Given the description of an element on the screen output the (x, y) to click on. 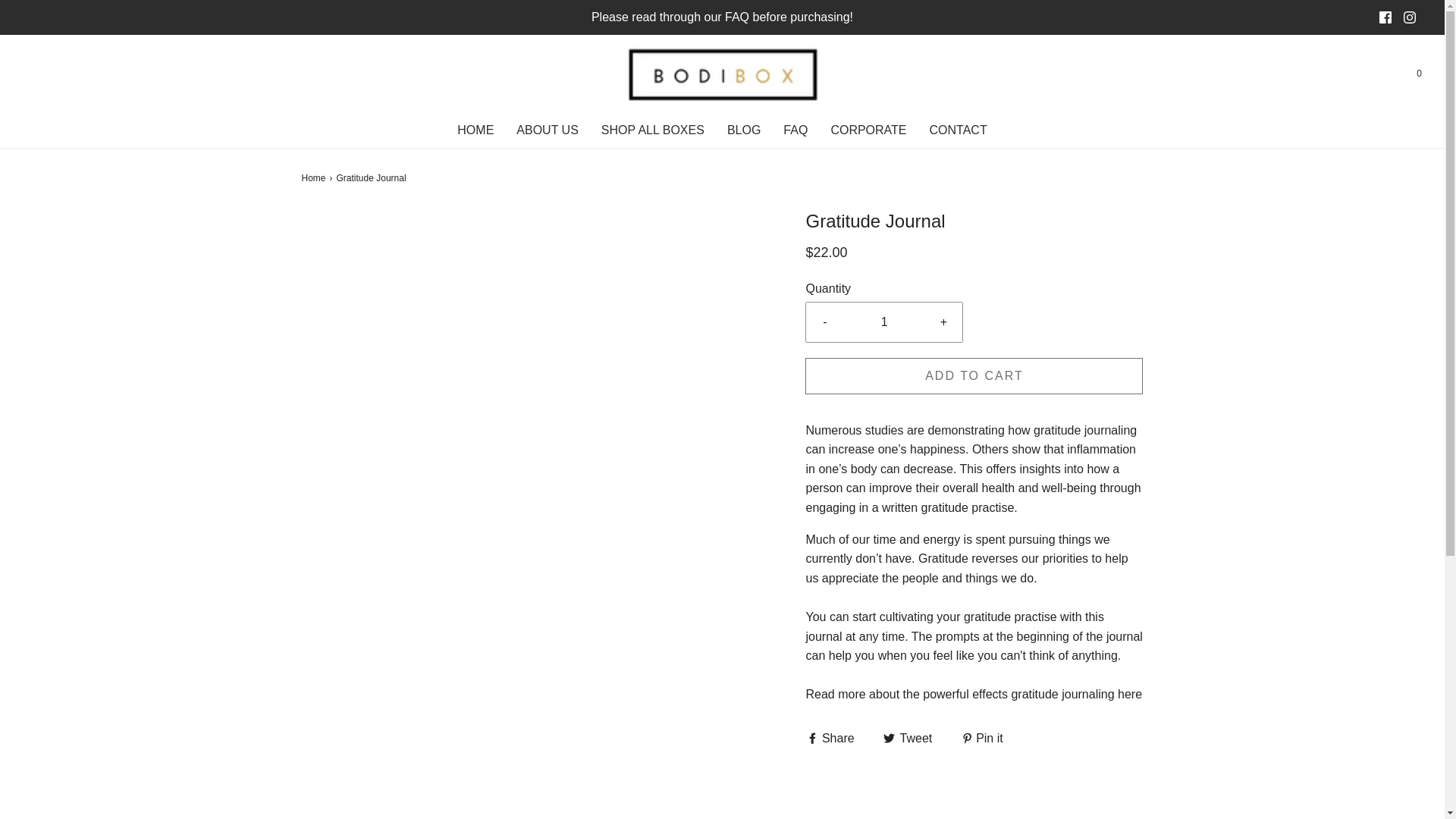
Back to the frontpage (315, 178)
BLOG (743, 130)
Instagram icon (1409, 16)
CORPORATE (867, 130)
Instagram icon (1409, 17)
SHOP ALL BOXES (652, 130)
Facebook icon (1385, 16)
ABOUT US (547, 130)
Facebook icon (1384, 17)
CONTACT (958, 130)
HOME (475, 130)
1 (884, 322)
Please read through our FAQ before purchasing! (722, 16)
